Given the description of an element on the screen output the (x, y) to click on. 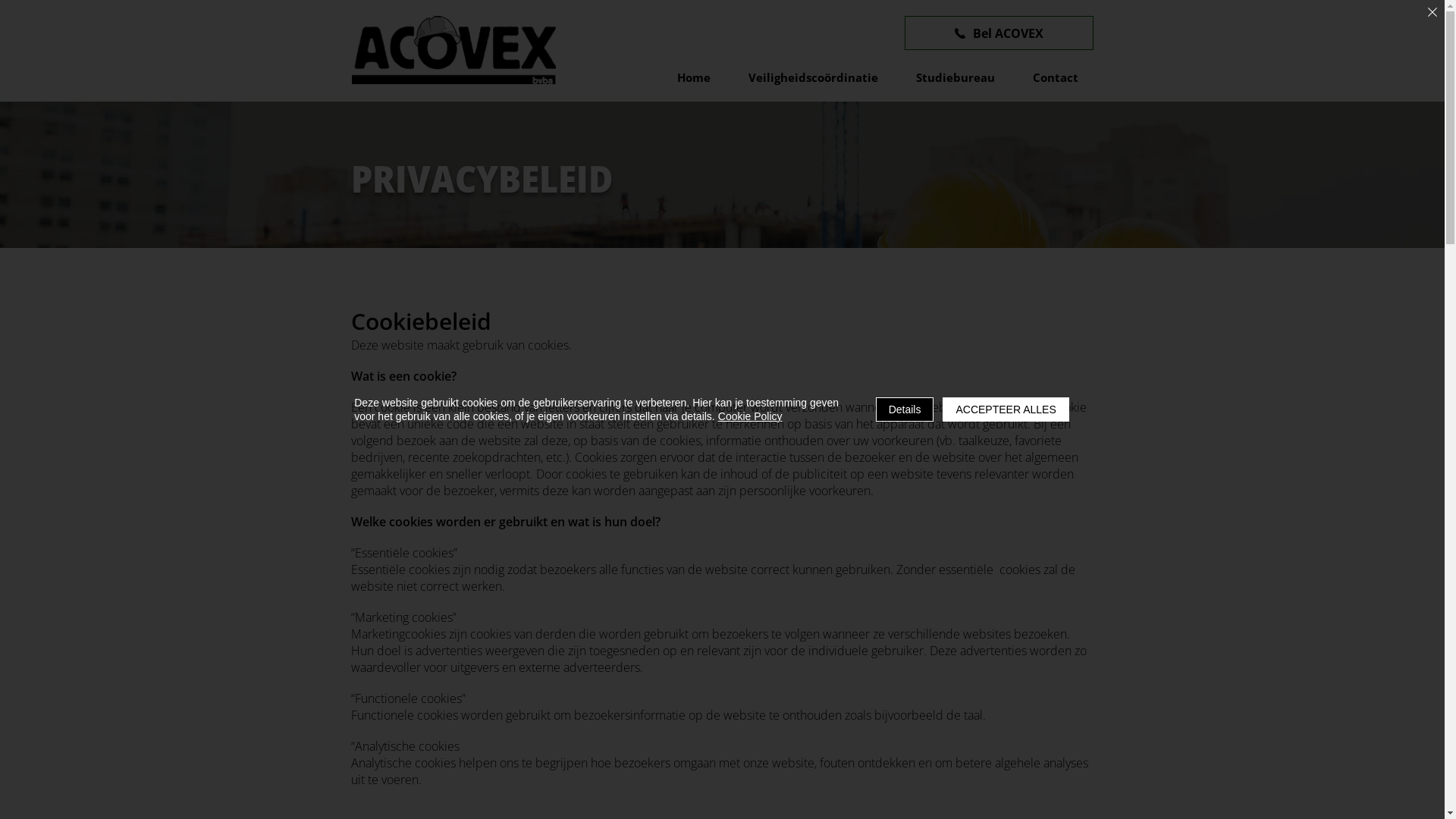
Studiebureau Element type: text (955, 77)
ACCEPTEER ALLES Element type: text (1005, 409)
Details Element type: text (904, 409)
Cookie Policy Element type: text (750, 416)
Home Element type: text (692, 77)
Bel ACOVEX Element type: text (997, 32)
Contact Element type: text (1055, 77)
